Given the description of an element on the screen output the (x, y) to click on. 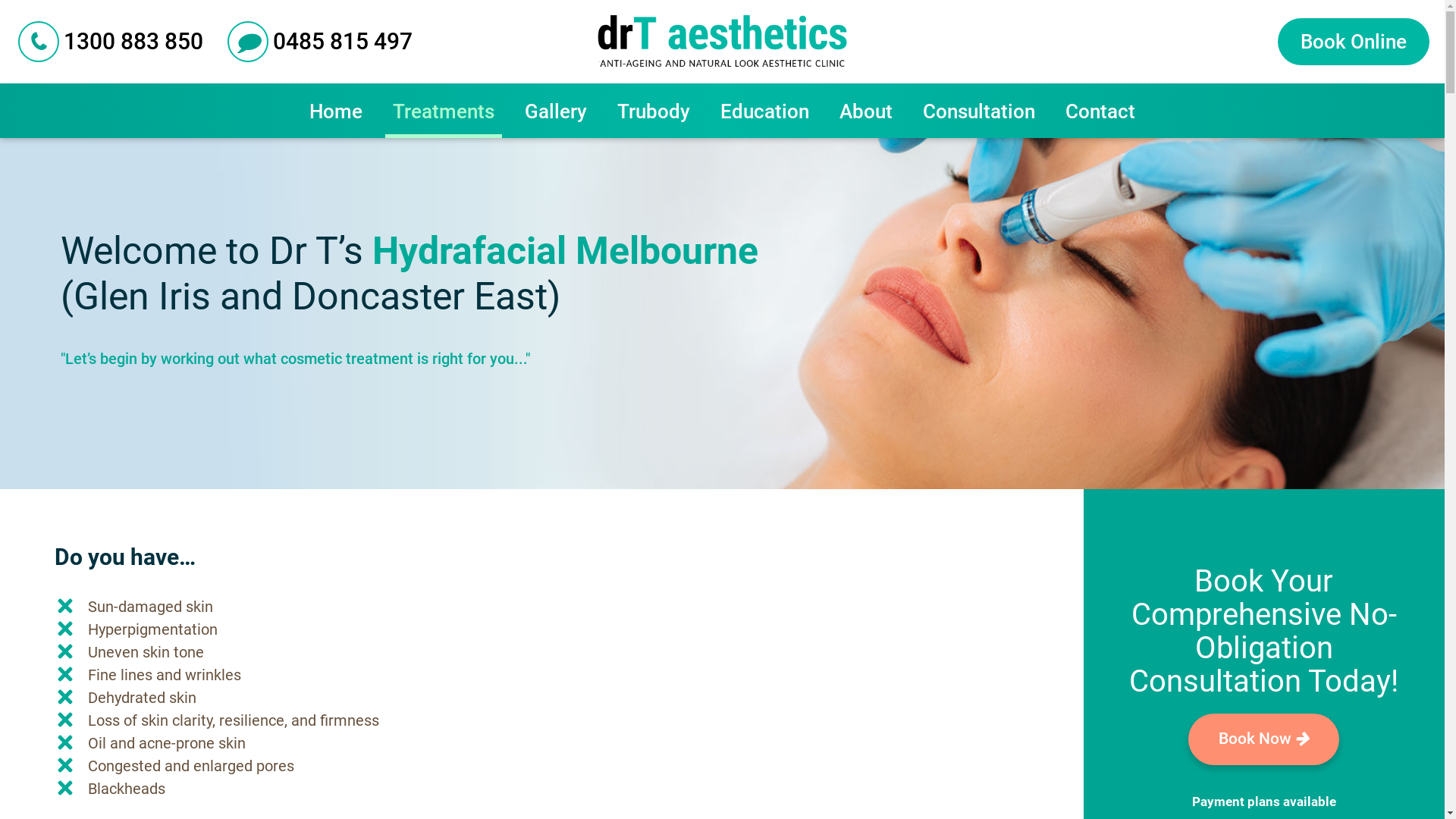
Education Element type: text (764, 110)
Home Element type: text (335, 110)
Gallery Element type: text (555, 110)
Book Online Element type: text (1353, 41)
About Element type: text (865, 110)
Consultation Element type: text (978, 110)
1300 883 850 Element type: text (110, 41)
Trubody Element type: text (653, 110)
0485 815 497 Element type: text (319, 41)
Book Now Element type: text (1263, 739)
Contact Element type: text (1099, 110)
Treatments Element type: text (443, 110)
